Given the description of an element on the screen output the (x, y) to click on. 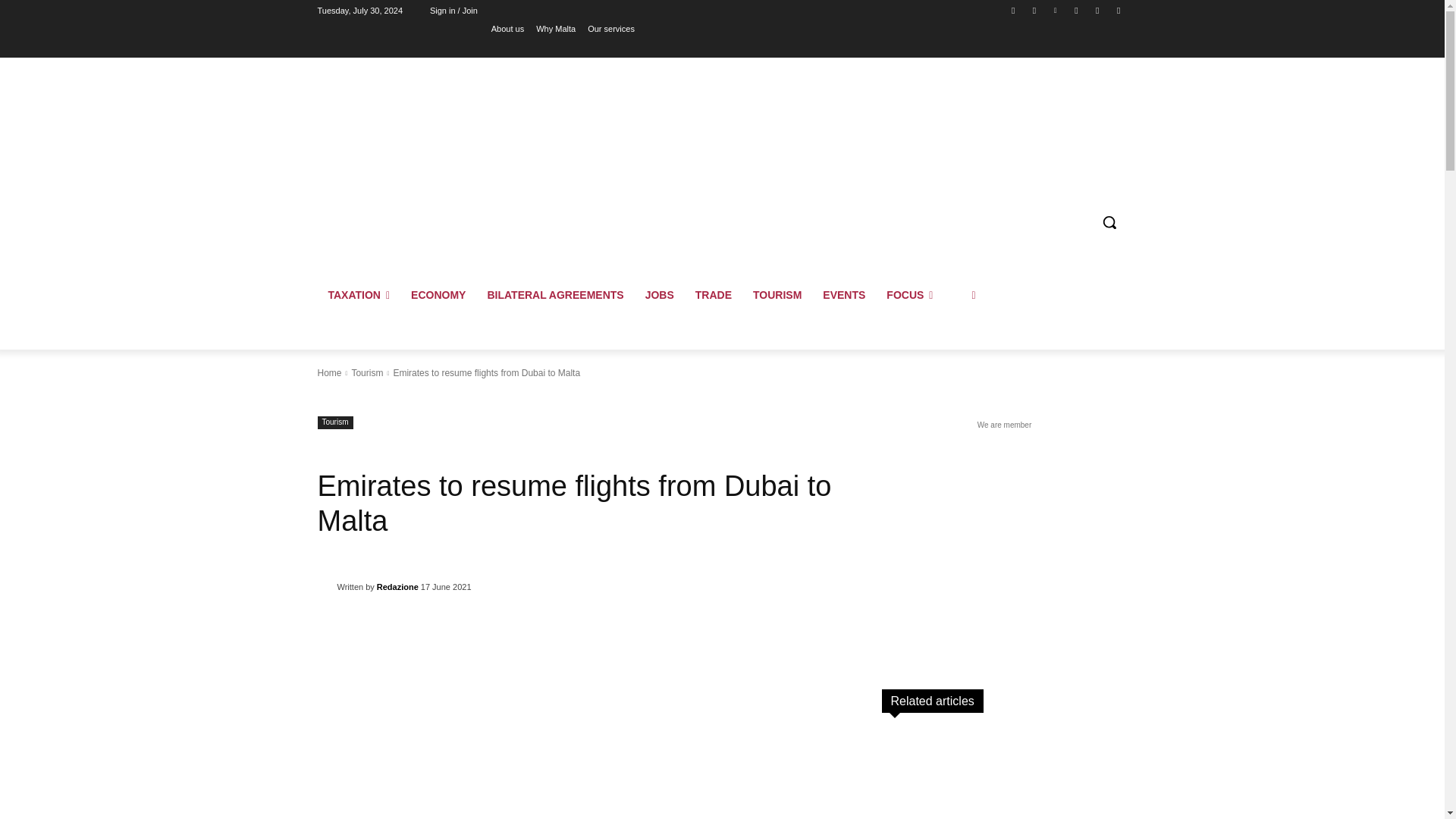
Telegram (1075, 9)
Facebook (1013, 9)
Why Malta (555, 28)
Our services (611, 28)
Youtube (1117, 9)
Malta Business (425, 120)
Linkedin (1055, 9)
Twitter (1097, 9)
Instagram (1034, 9)
About us (508, 28)
